Given the description of an element on the screen output the (x, y) to click on. 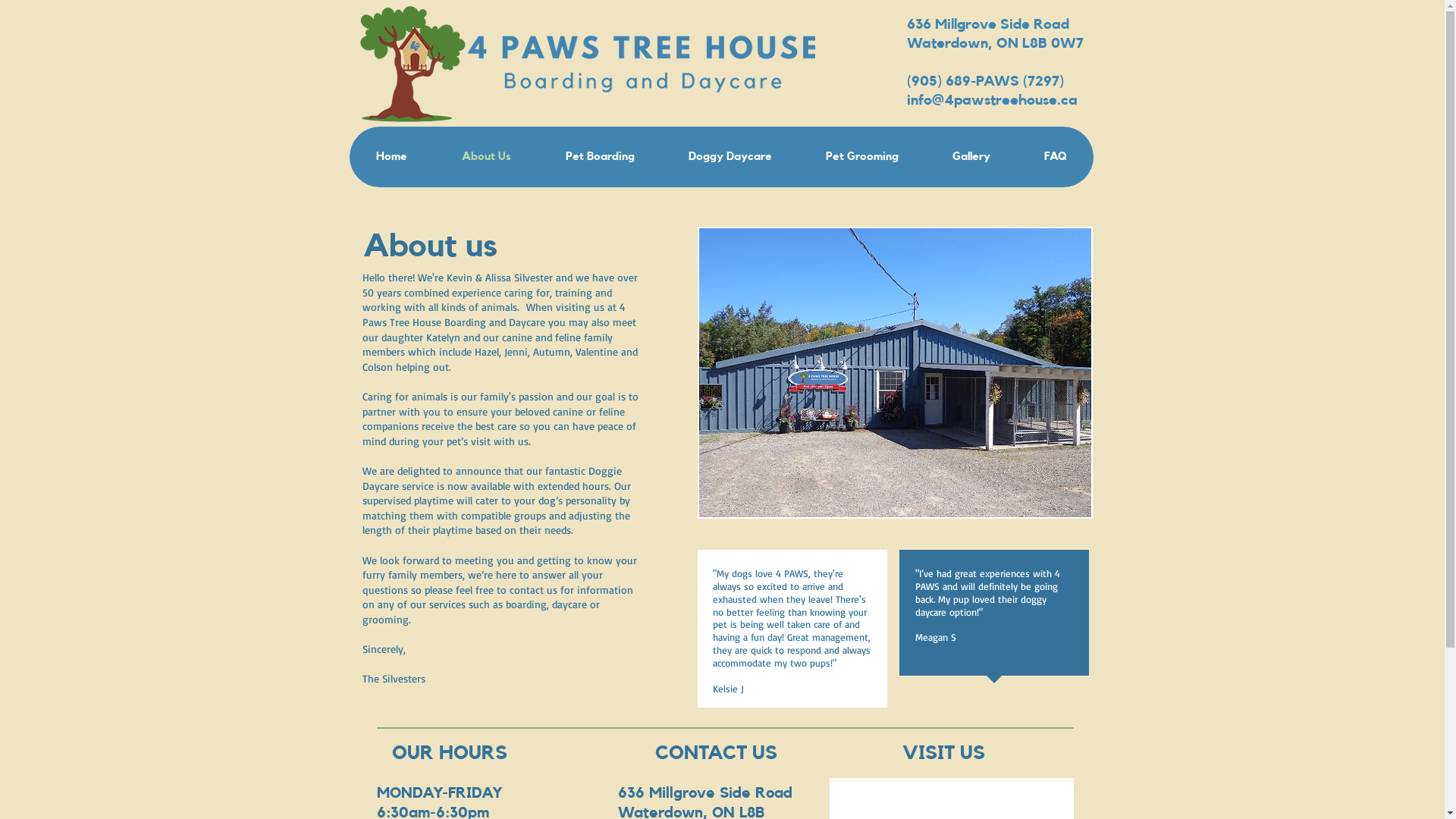
About Us Element type: text (485, 156)
info@4pawstreehouse.ca Element type: text (991, 100)
Pet Boarding Element type: text (599, 156)
Home Element type: text (390, 156)
FAQ Element type: text (1054, 156)
Gallery Element type: text (970, 156)
Pet Grooming Element type: text (860, 156)
Doggy Daycare Element type: text (729, 156)
